Given the description of an element on the screen output the (x, y) to click on. 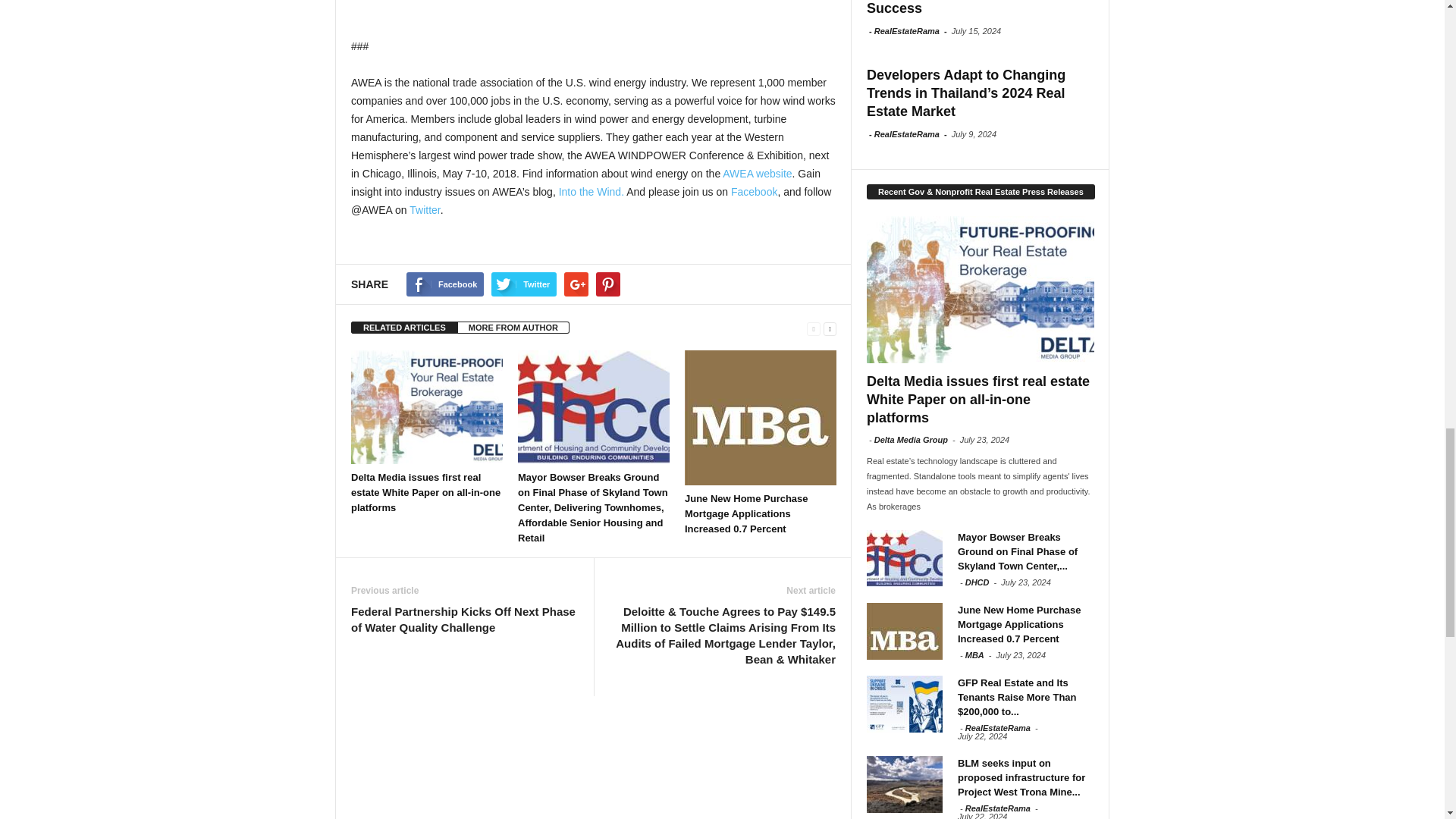
Advertisement (592, 16)
